Given the description of an element on the screen output the (x, y) to click on. 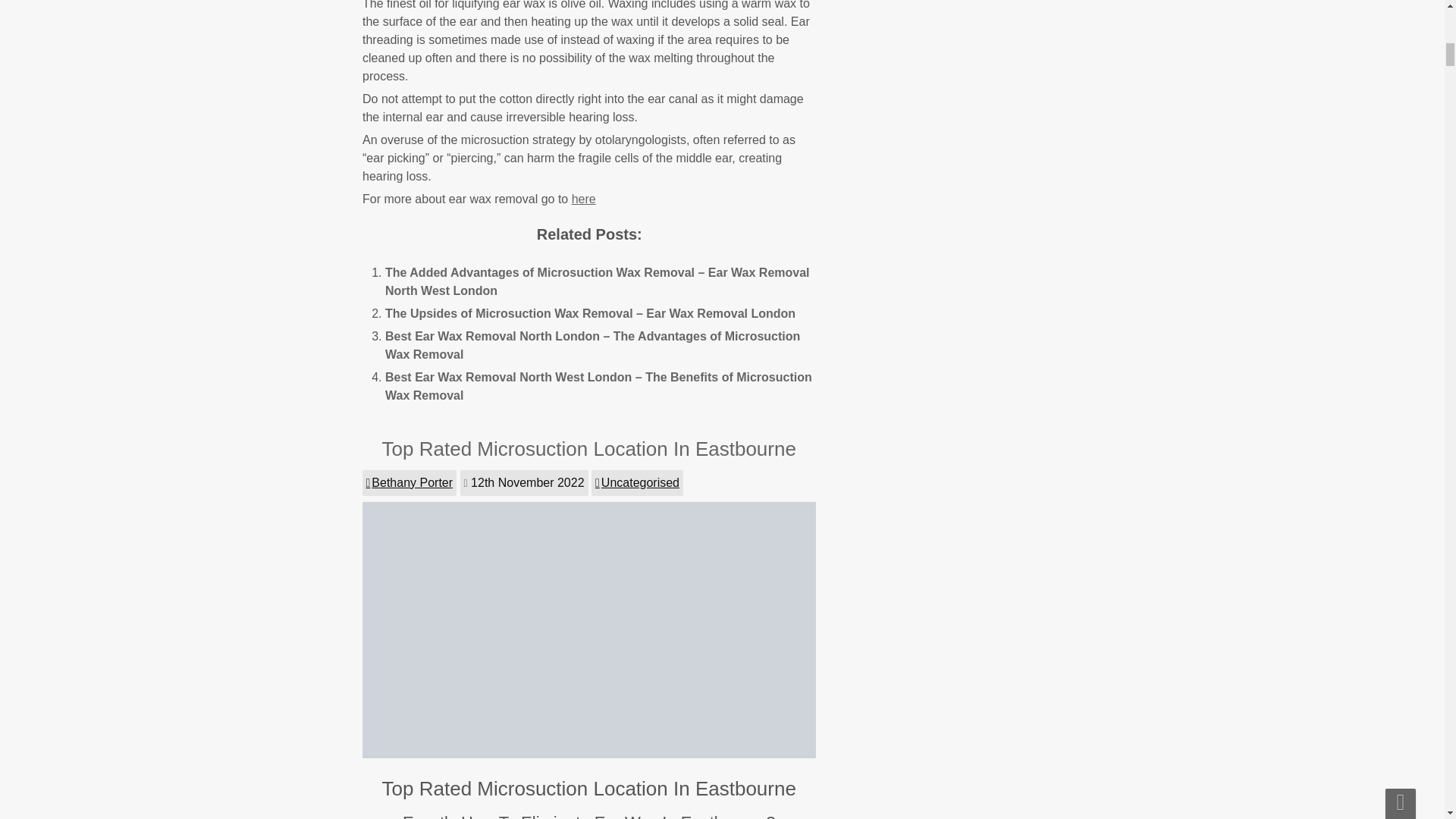
Posts by Bethany Porter (409, 483)
Bethany Porter (409, 483)
Top Rated Microsuction Location In Eastbourne (589, 752)
Uncategorised (636, 483)
Top Rated Microsuction Location In Eastbourne (588, 448)
Top Rated Microsuction Location In Eastbourne (588, 448)
